Given the description of an element on the screen output the (x, y) to click on. 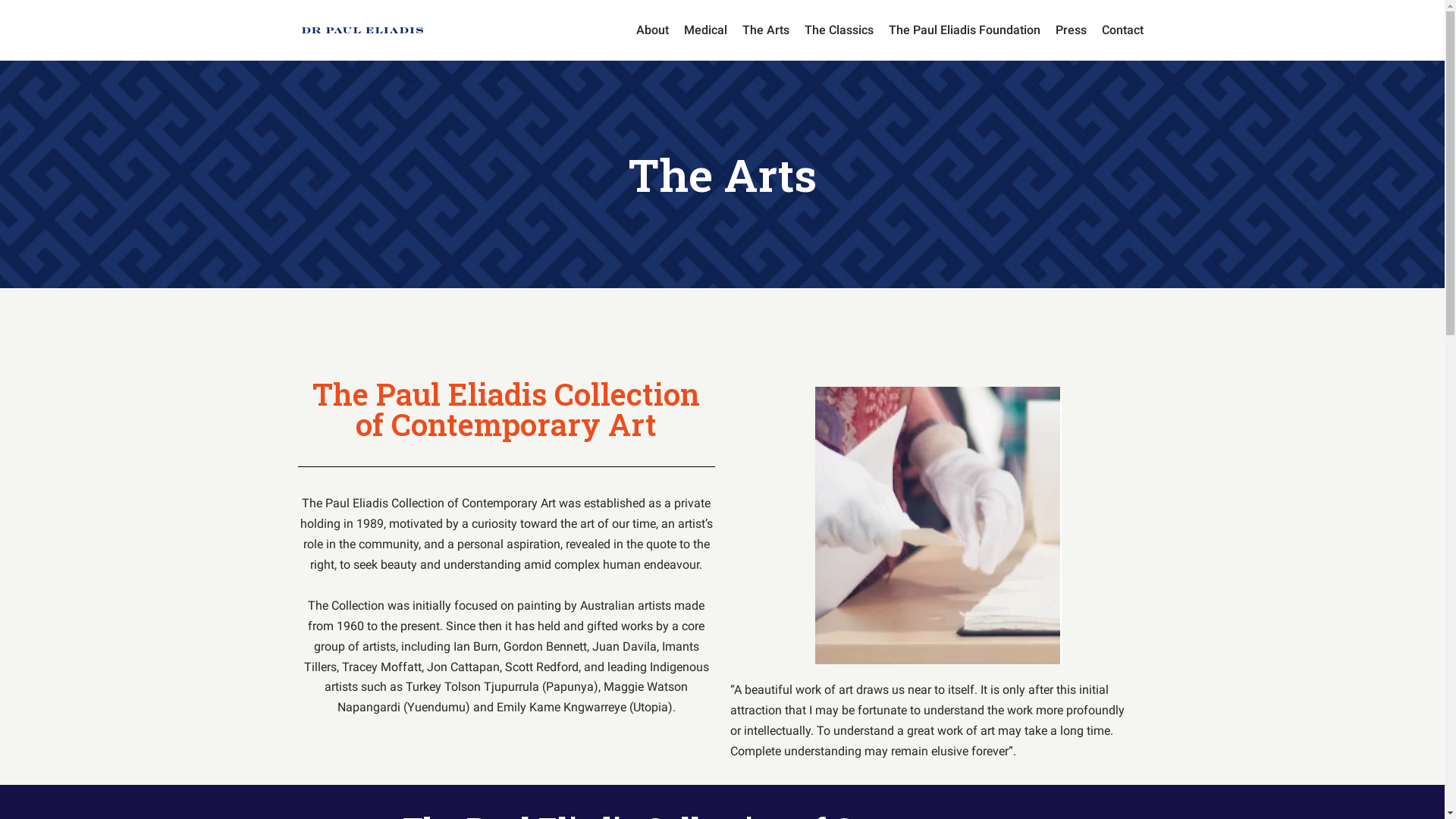
Press Element type: text (1070, 30)
The Arts Element type: text (764, 30)
Contact Element type: text (1121, 30)
About Element type: text (651, 30)
Dr Paul Eliadis AM Element type: hover (362, 30)
The Paul Eliadis Foundation Element type: text (964, 30)
The Classics Element type: text (837, 30)
Medical Element type: text (705, 30)
Skip to content Element type: text (15, 7)
